Given the description of an element on the screen output the (x, y) to click on. 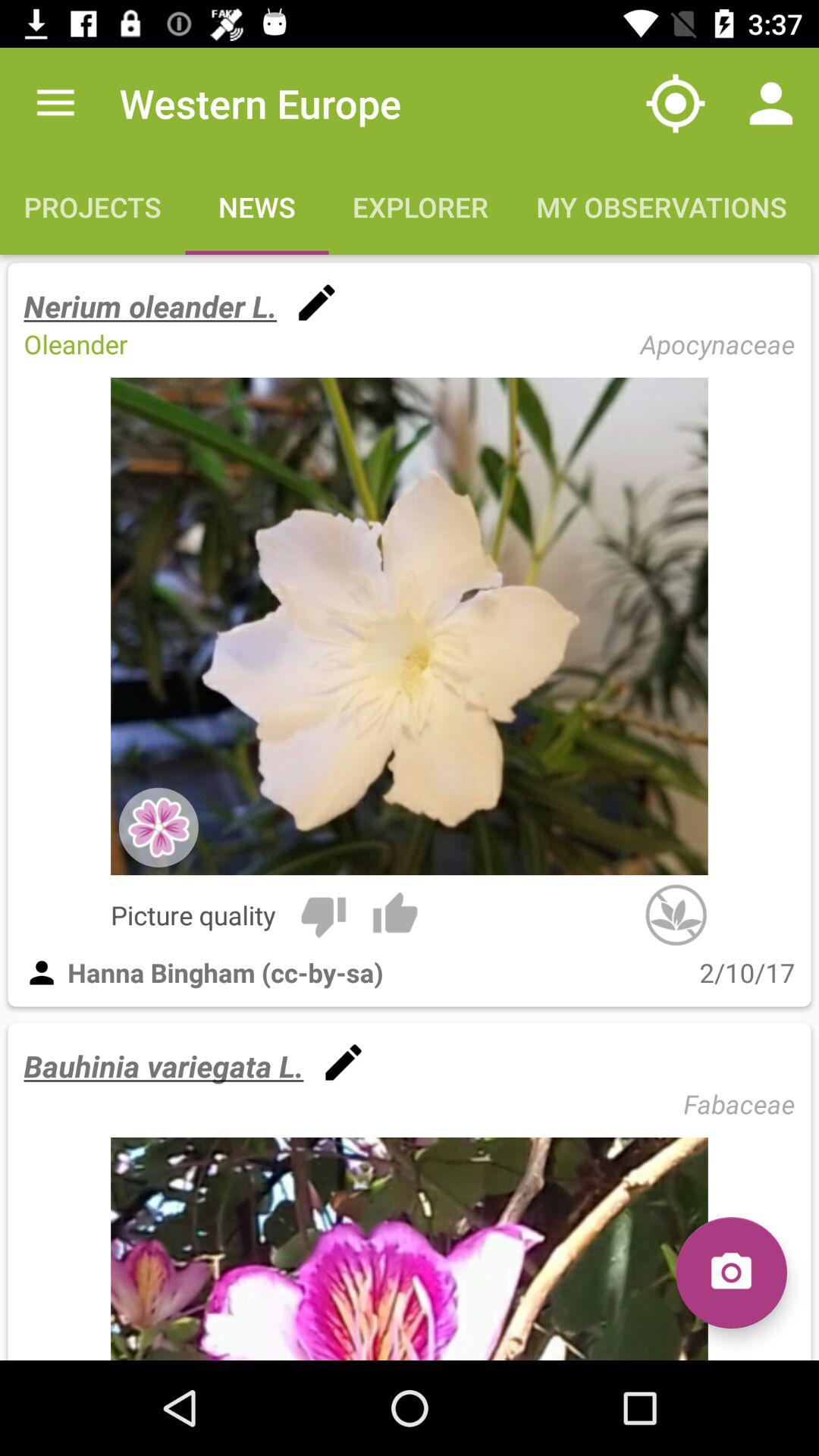
launch the icon above the 2/10/17 (676, 914)
